Given the description of an element on the screen output the (x, y) to click on. 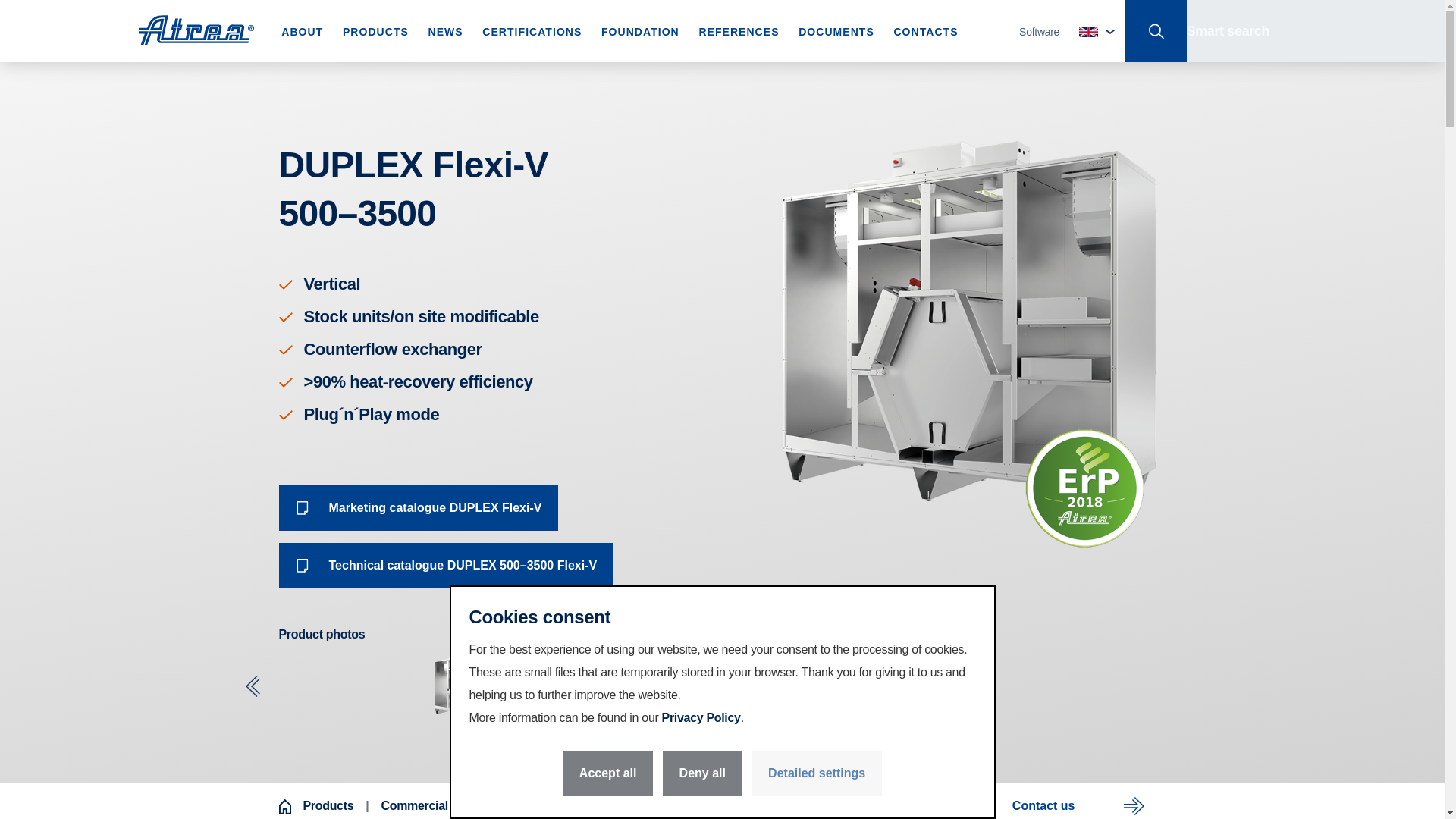
ATREA s.r.o. (195, 30)
REFERENCES (738, 31)
Commercial line (425, 805)
ATREA s.r.o. (195, 30)
Products (327, 805)
CERTIFICATIONS (531, 31)
CONTACTS (925, 31)
Marketing catalogue DUPLEX Flexi-V (419, 507)
DOCUMENTS (836, 31)
Contact us (1080, 800)
